Given the description of an element on the screen output the (x, y) to click on. 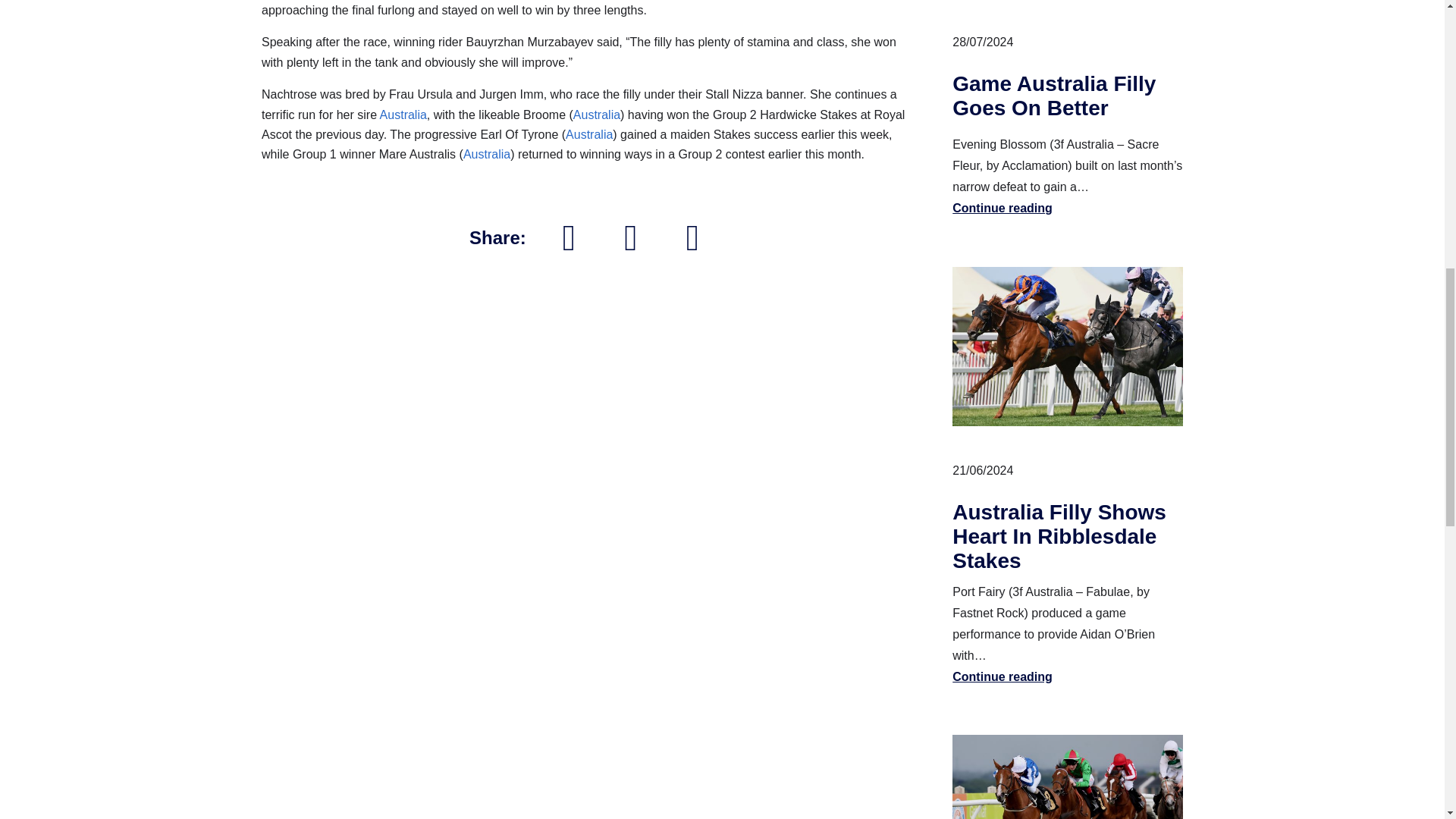
Australia (596, 114)
Australia (487, 154)
Australia (589, 133)
Australia (403, 114)
